Given the description of an element on the screen output the (x, y) to click on. 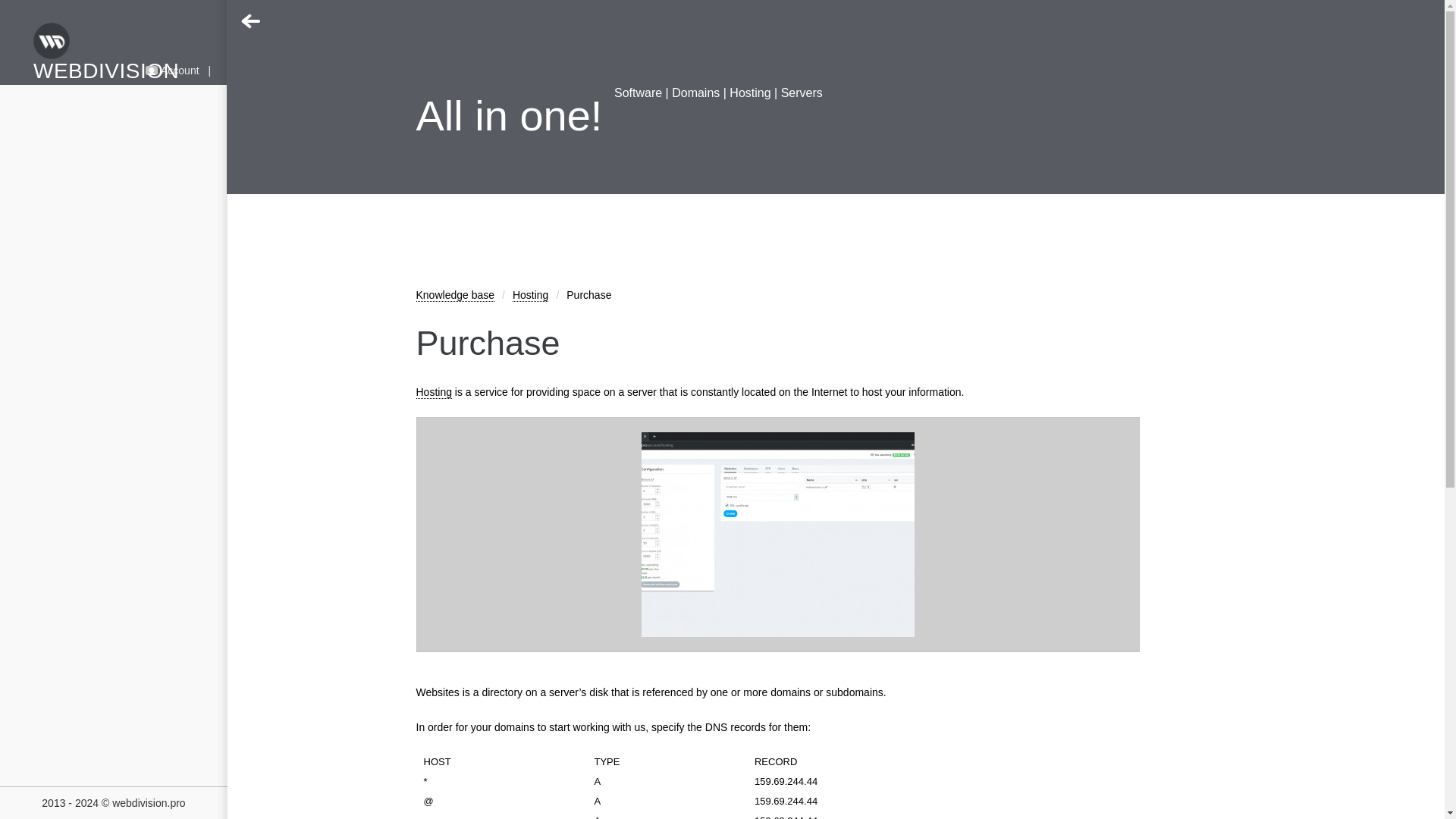
Account (171, 70)
WEBDIVISION (113, 52)
webdivision.pro (149, 802)
